Given the description of an element on the screen output the (x, y) to click on. 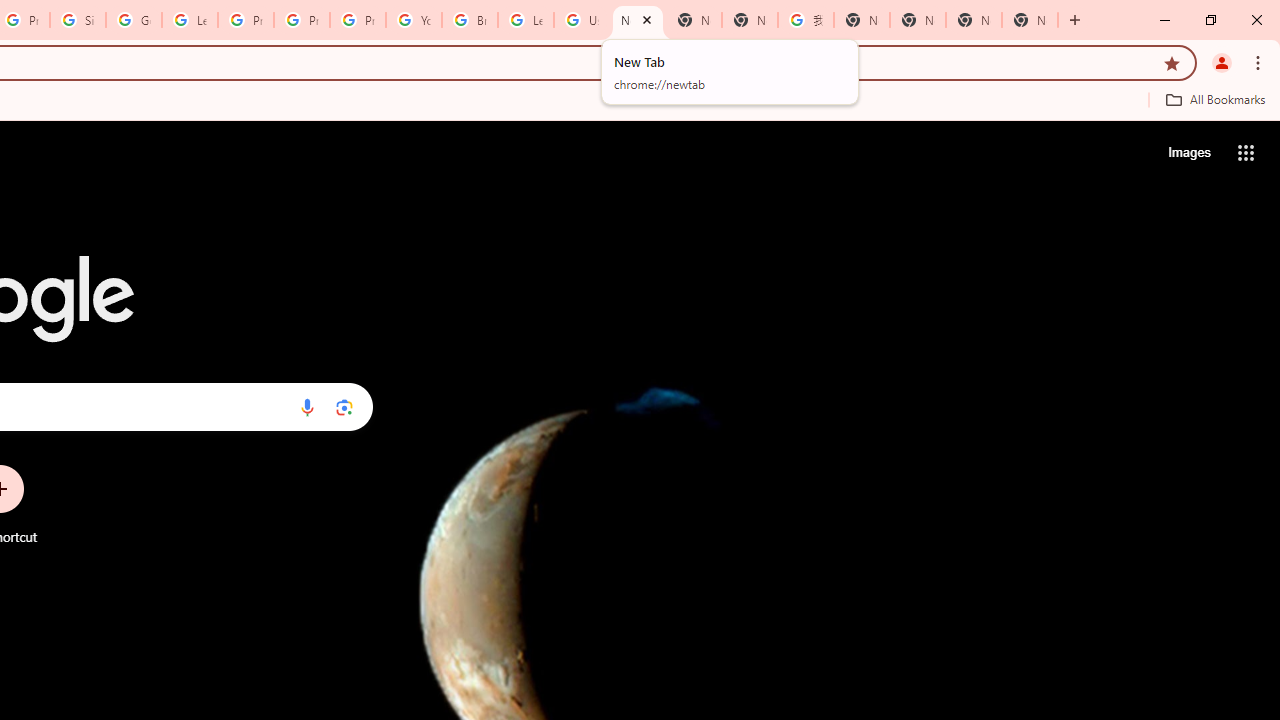
YouTube (413, 20)
Privacy Help Center - Policies Help (301, 20)
Sign in - Google Accounts (77, 20)
